Given the description of an element on the screen output the (x, y) to click on. 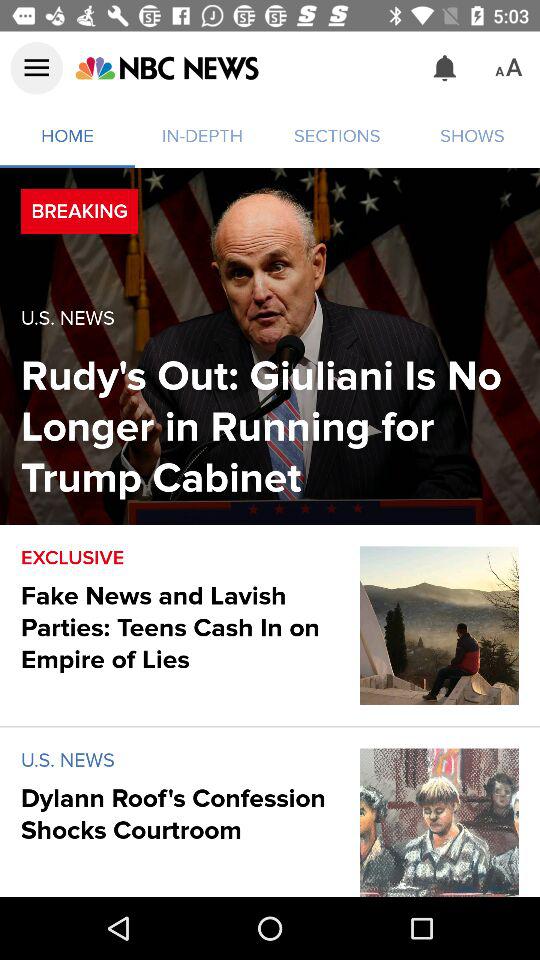
access nbc news web page (166, 68)
